Given the description of an element on the screen output the (x, y) to click on. 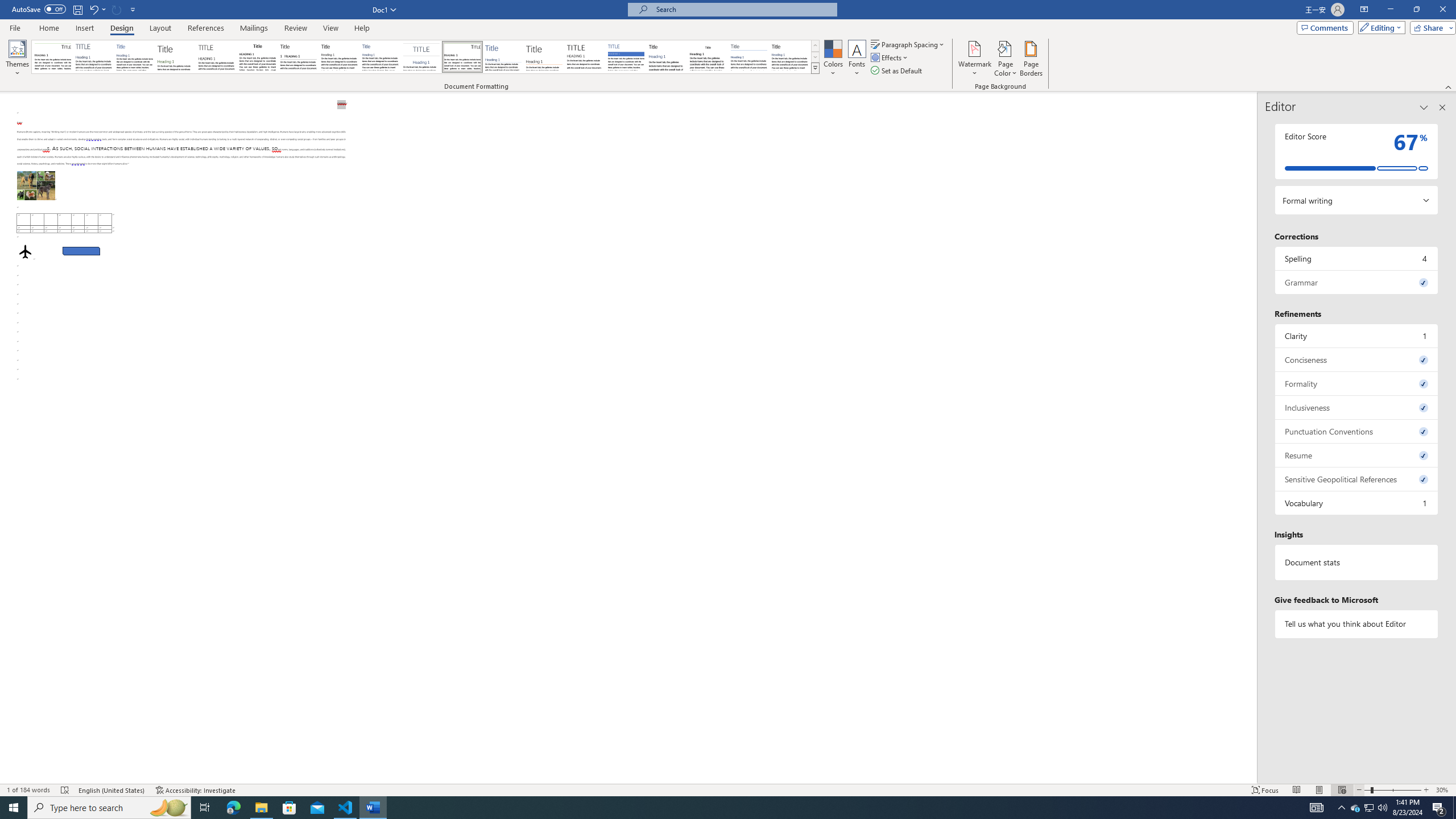
Ribbon Display Options (1364, 9)
Close (1442, 9)
Basic (Stylish) (175, 56)
Undo Apply Quick Style Set (92, 9)
Basic (Simple) (135, 56)
Resume, 0 issues. Press space or enter to review items. (1356, 454)
Can't Repeat (117, 9)
Themes (17, 58)
Lines (Simple) (503, 56)
Lines (Stylish) (544, 56)
Editing (1379, 27)
Comments (1325, 27)
Layout (160, 28)
Minimalist (584, 56)
